Given the description of an element on the screen output the (x, y) to click on. 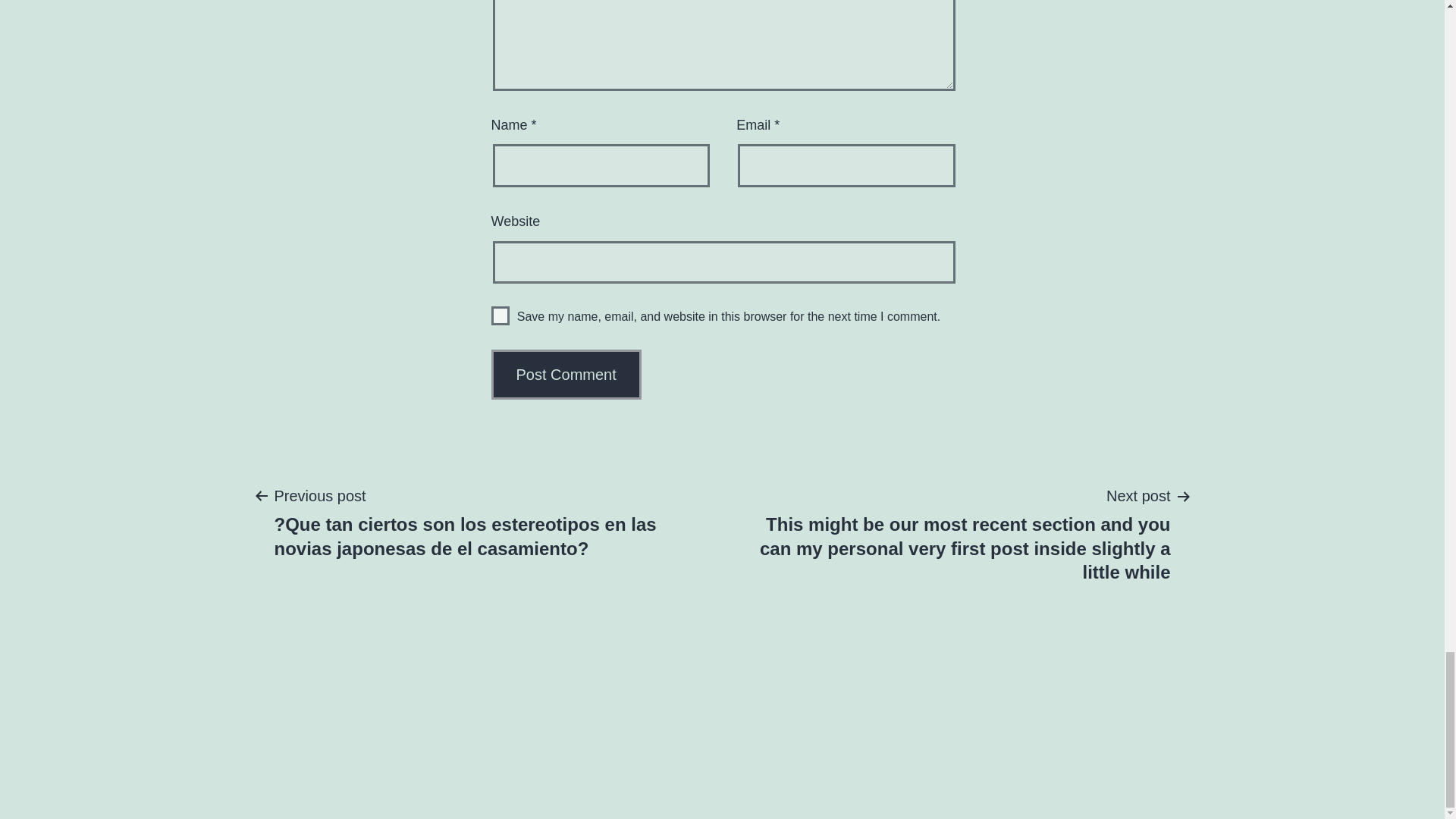
Post Comment (567, 374)
yes (500, 315)
Post Comment (567, 374)
